Given the description of an element on the screen output the (x, y) to click on. 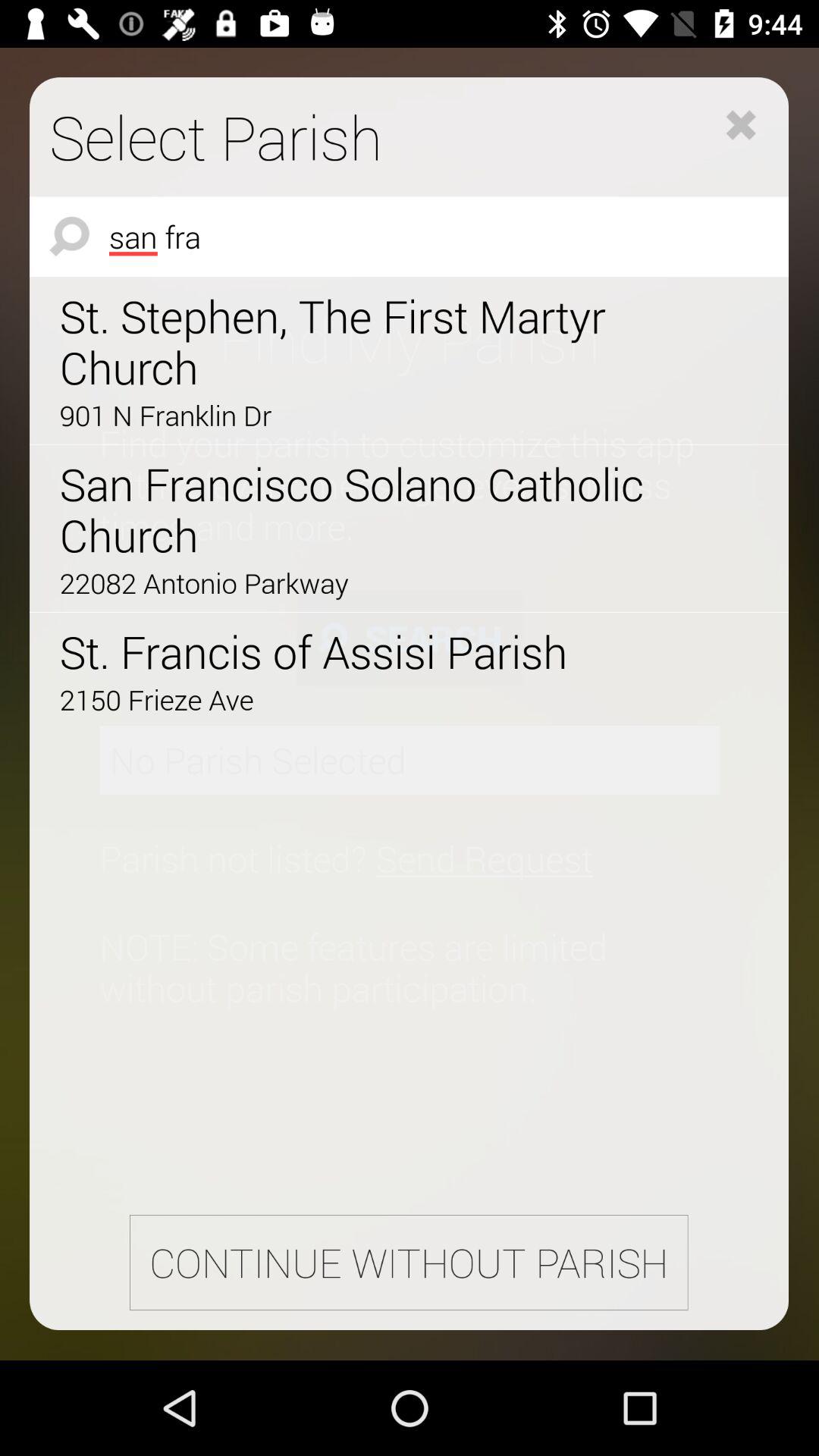
turn off icon above the continue without parish (366, 699)
